Given the description of an element on the screen output the (x, y) to click on. 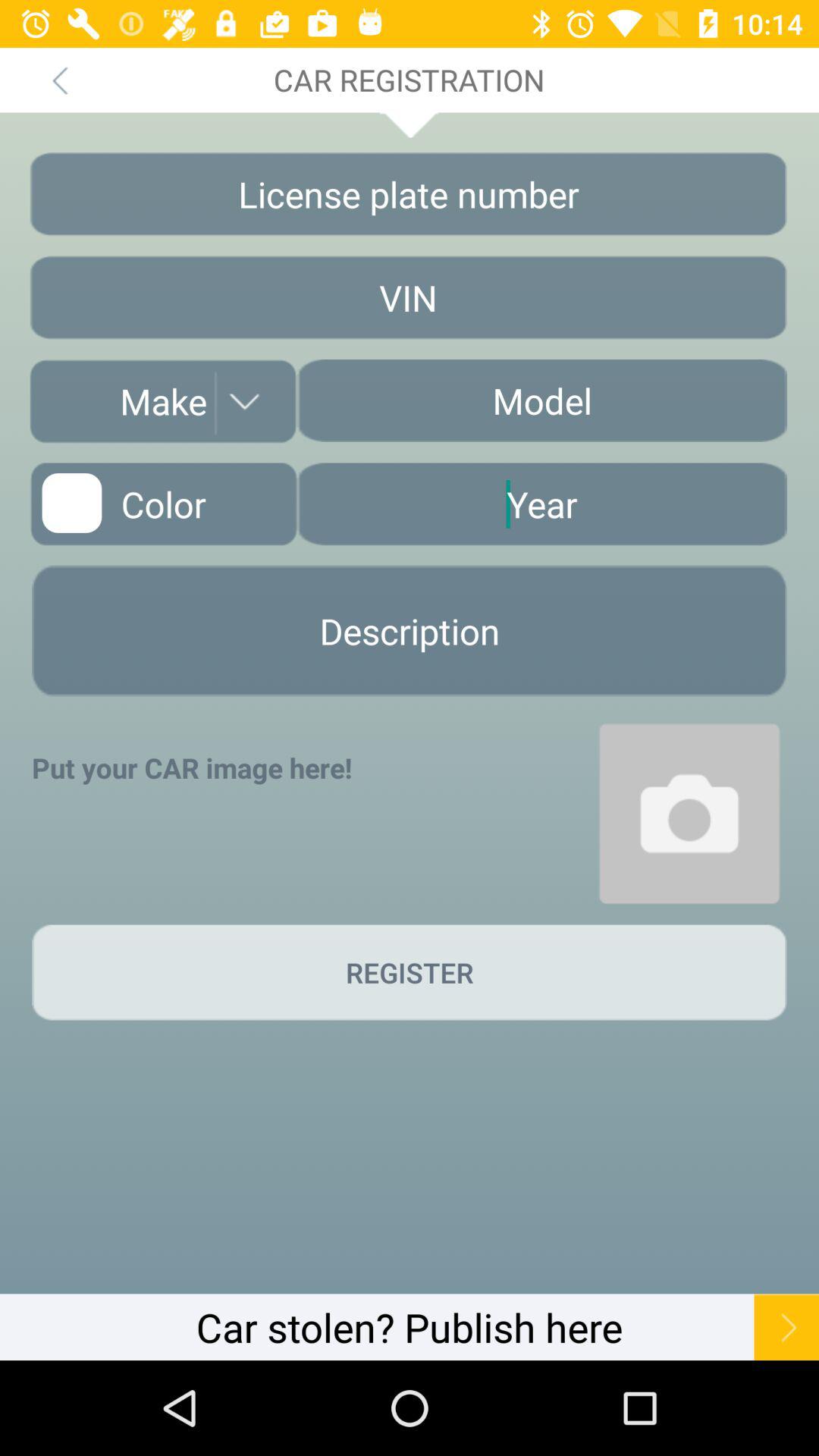
go to description option (409, 630)
